Given the description of an element on the screen output the (x, y) to click on. 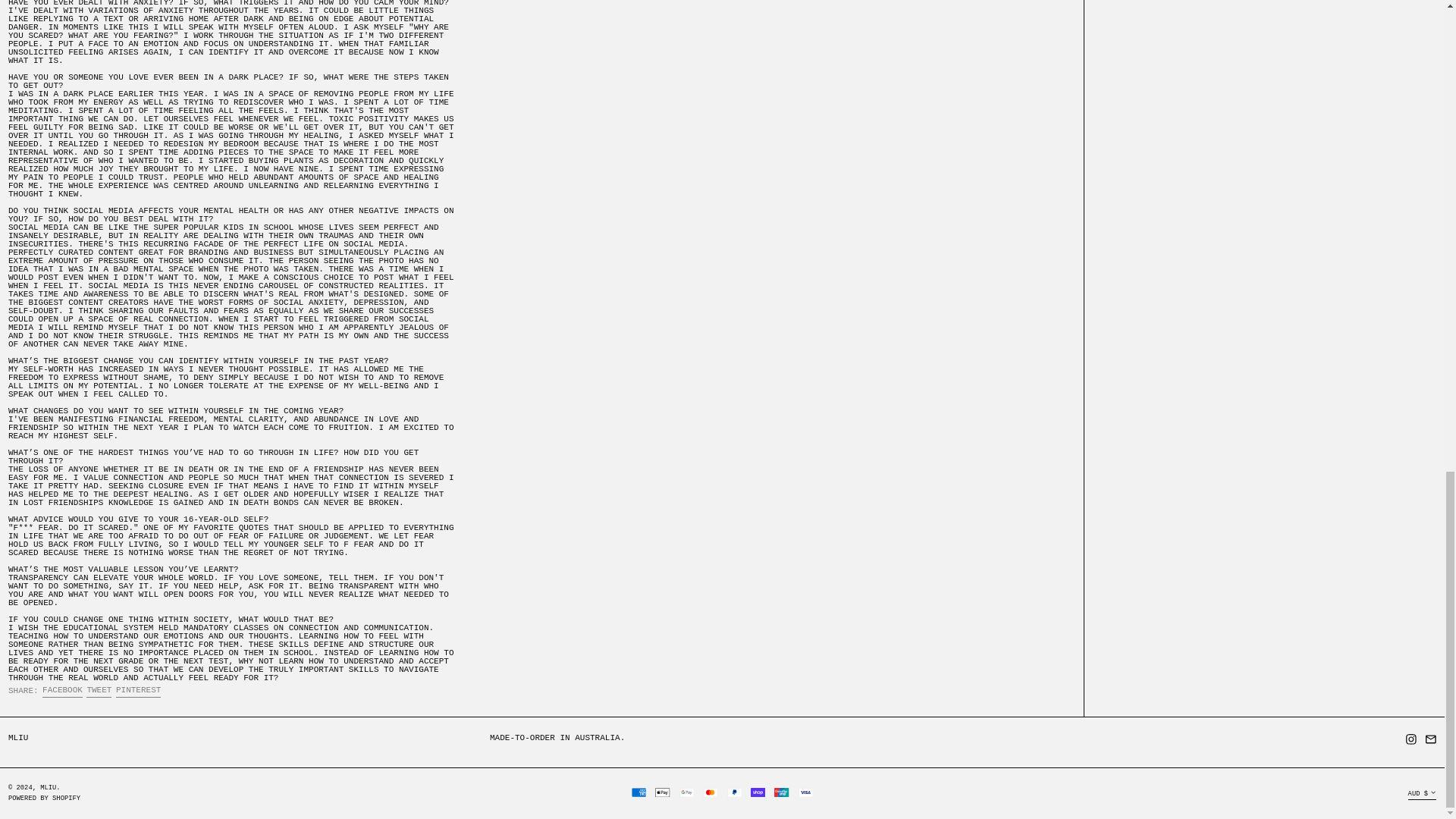
INSTAGRAM (62, 691)
MLIU (98, 691)
EMAIL (138, 691)
POWERED BY SHOPIFY (1411, 741)
MLIU (48, 787)
